Given the description of an element on the screen output the (x, y) to click on. 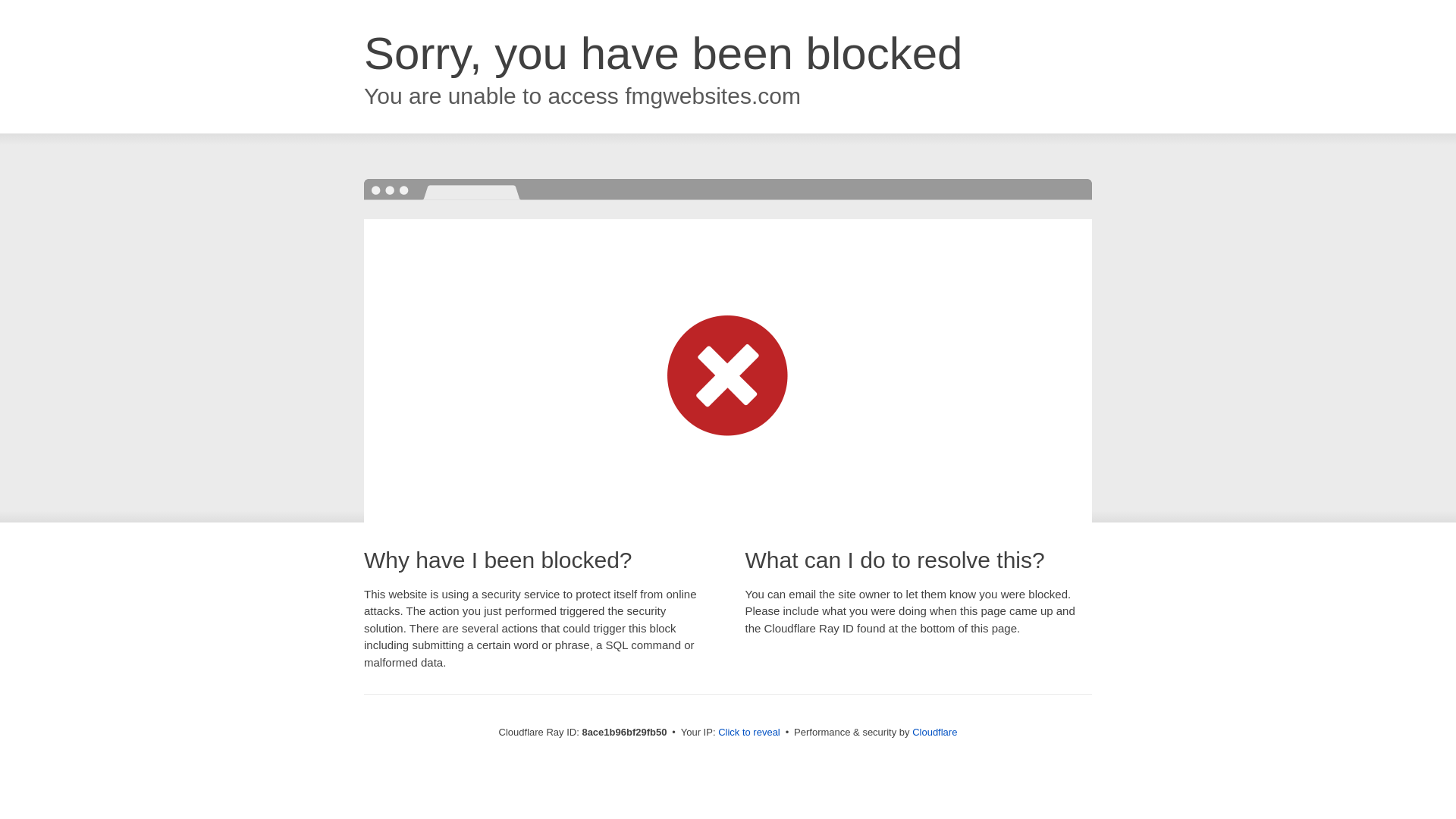
Cloudflare (934, 731)
Click to reveal (748, 732)
